Given the description of an element on the screen output the (x, y) to click on. 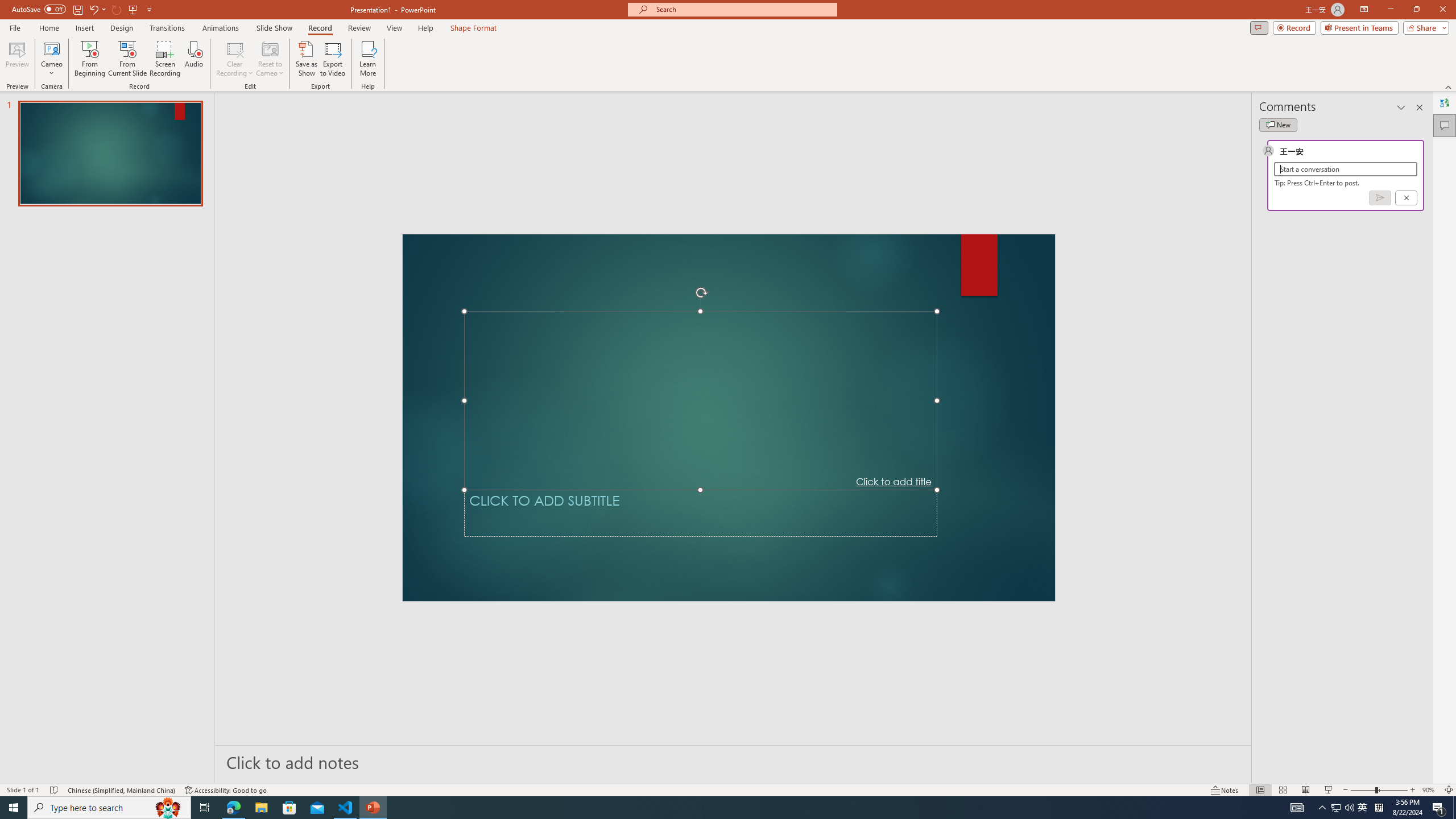
Start a conversation (1344, 168)
